Given the description of an element on the screen output the (x, y) to click on. 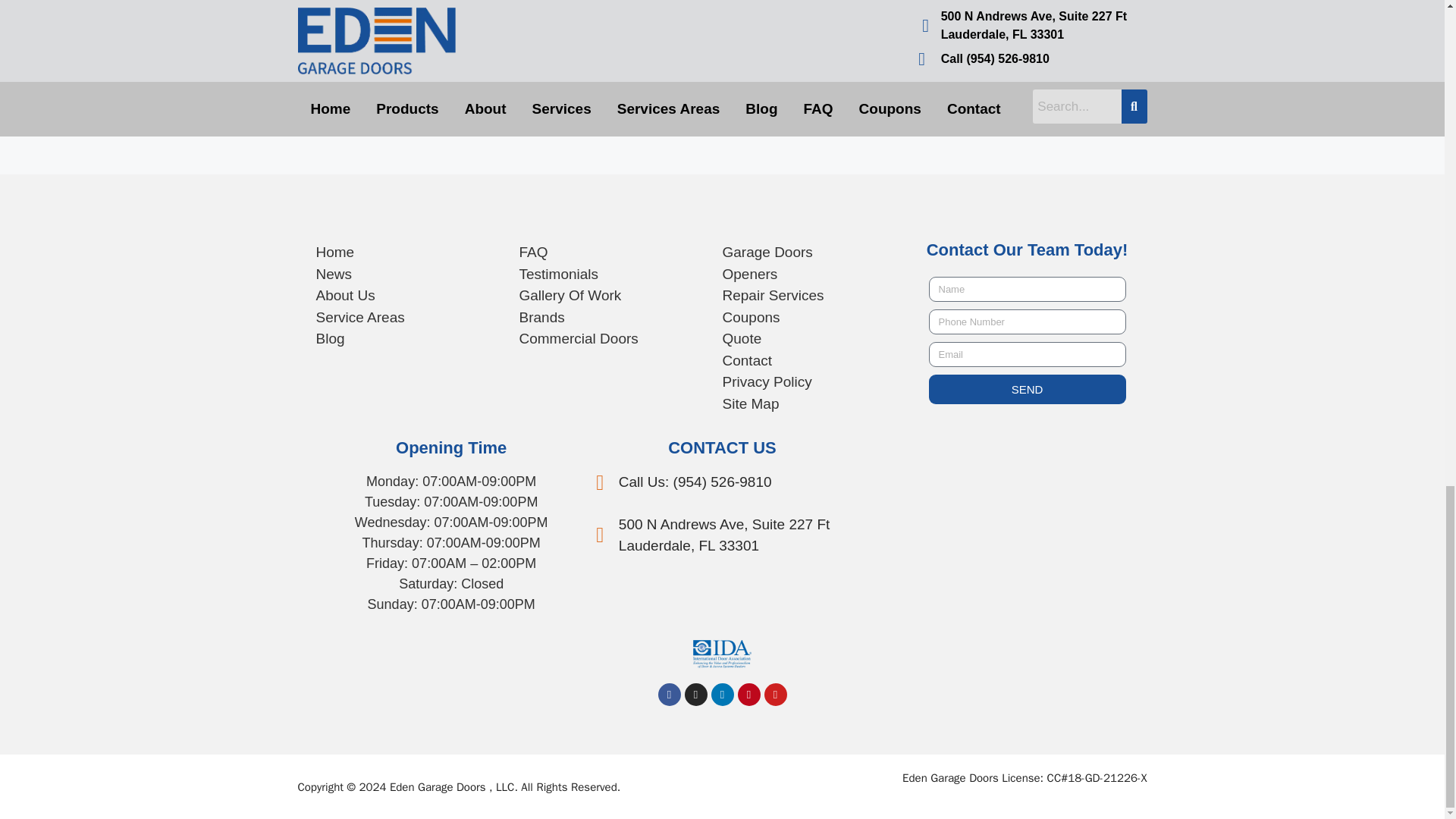
Scroll back to top (1406, 329)
